Given the description of an element on the screen output the (x, y) to click on. 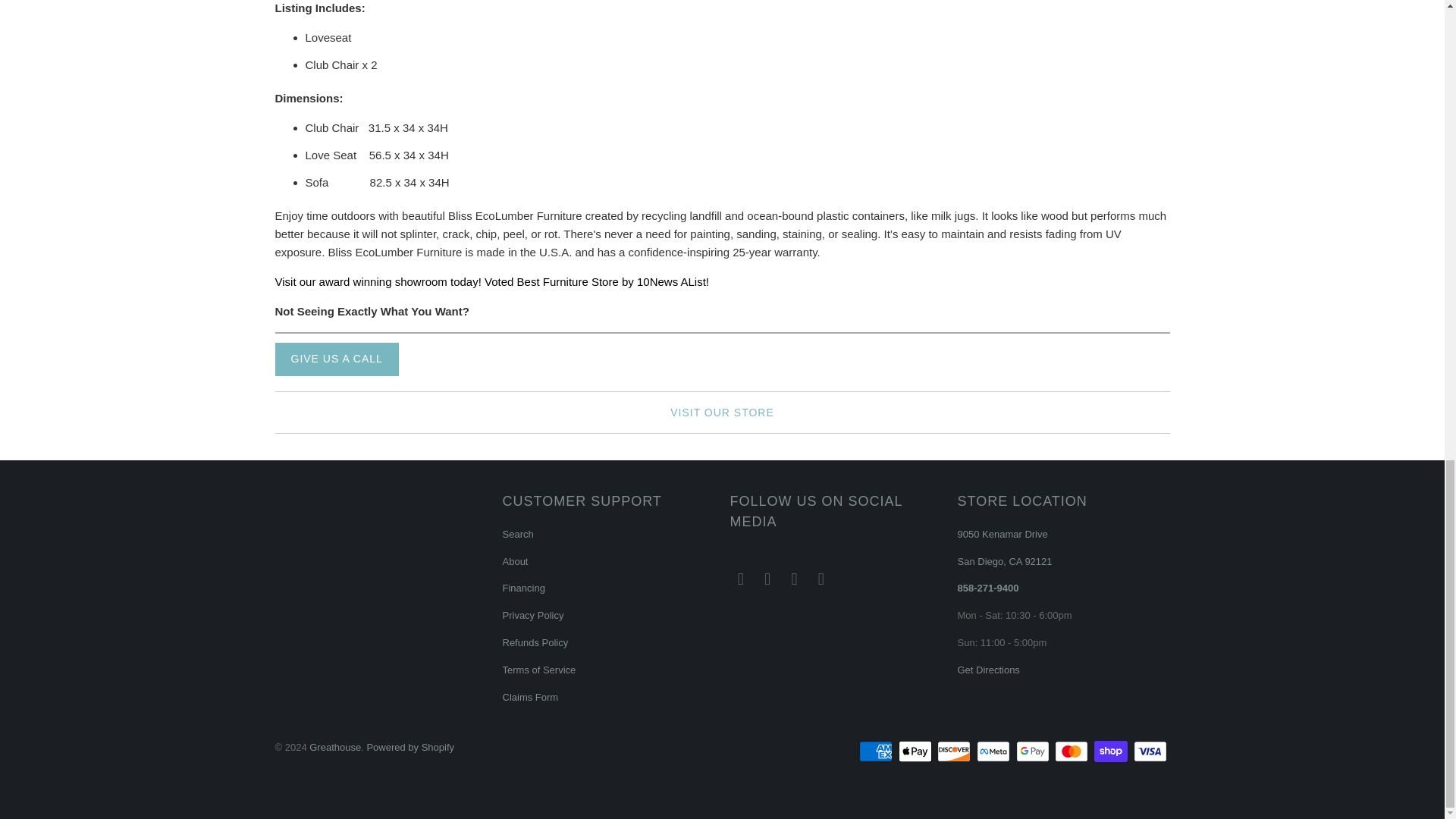
Mastercard (1072, 751)
Meta Pay (994, 751)
Greathouse on Twitter (740, 579)
Google Pay (1034, 751)
Apple Pay (916, 751)
Shop Pay (1112, 751)
Visa (1150, 751)
Greathouse on Pinterest (794, 579)
Discover (955, 751)
American Express (877, 751)
